Given the description of an element on the screen output the (x, y) to click on. 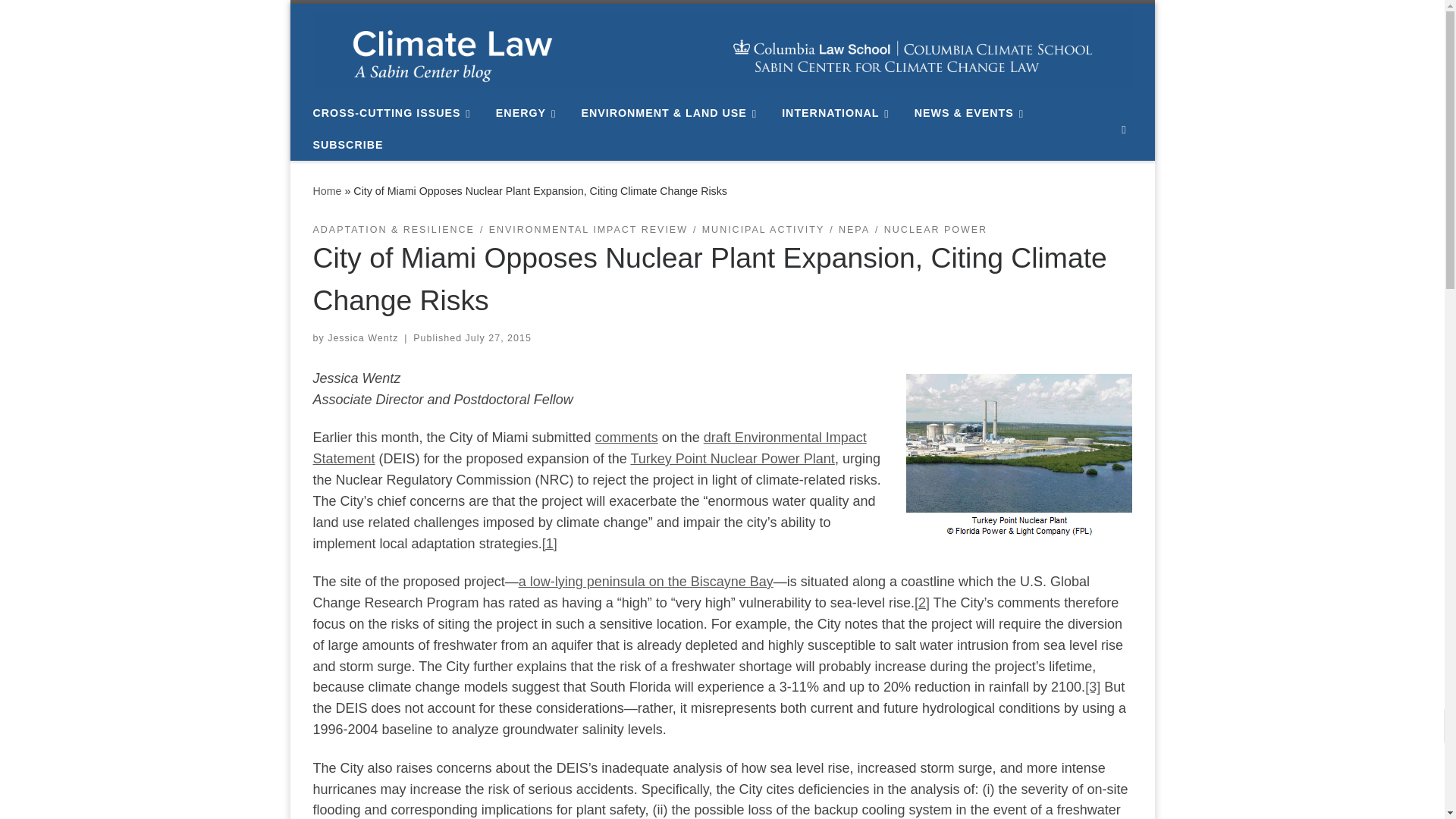
ENERGY (529, 112)
10:58 am (498, 337)
INTERNATIONAL (838, 112)
View all posts in Municipal Activity (763, 229)
View all posts in Nuclear Power (935, 229)
CROSS-CUTTING ISSUES (394, 112)
SUBSCRIBE (347, 144)
View all posts in Environmental Impact Review (588, 229)
View all posts by Jessica Wentz (362, 337)
View all posts in NEPA (853, 229)
Skip to content (60, 20)
